Given the description of an element on the screen output the (x, y) to click on. 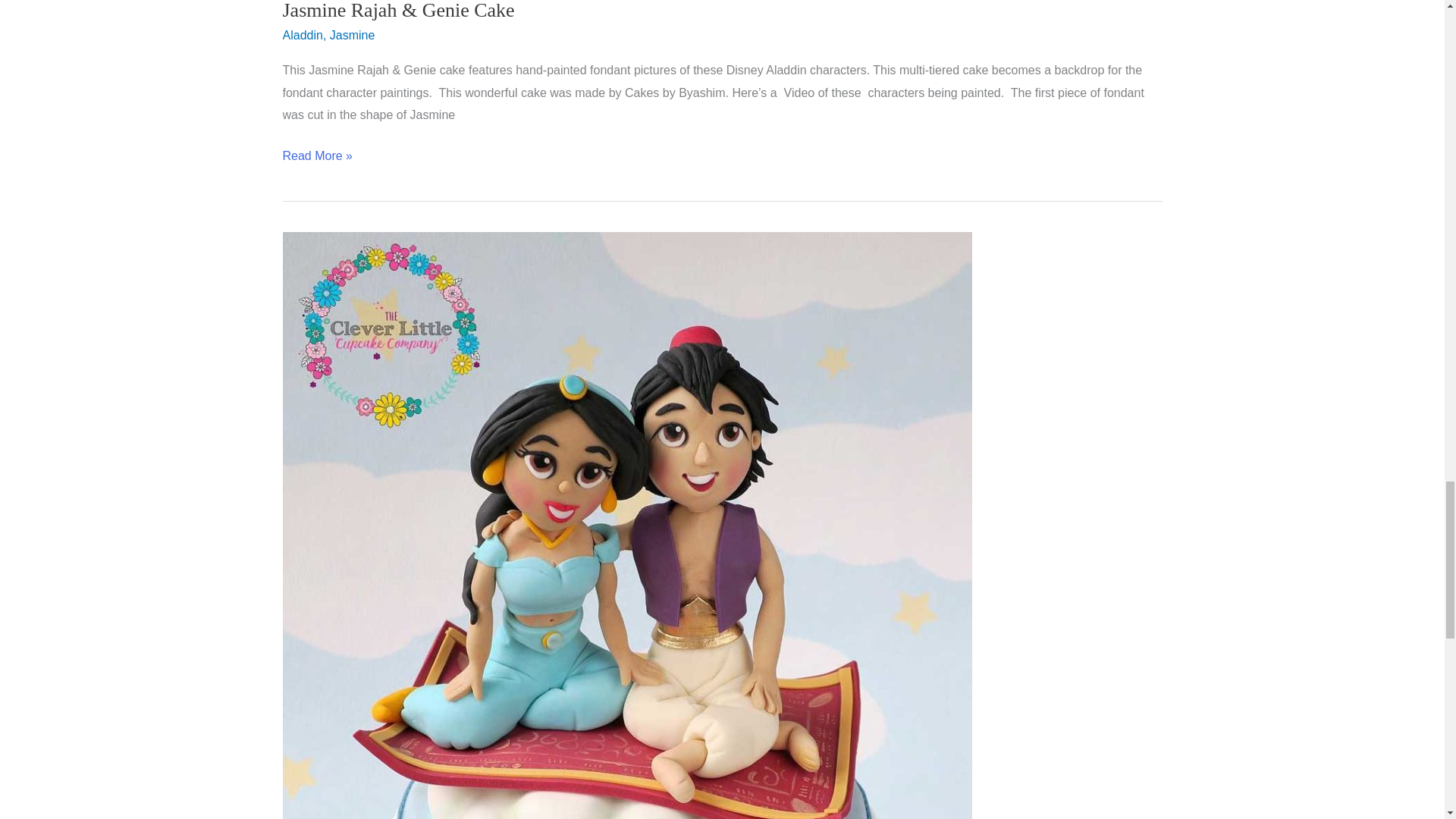
Aladdin (301, 34)
Jasmine (352, 34)
